Given the description of an element on the screen output the (x, y) to click on. 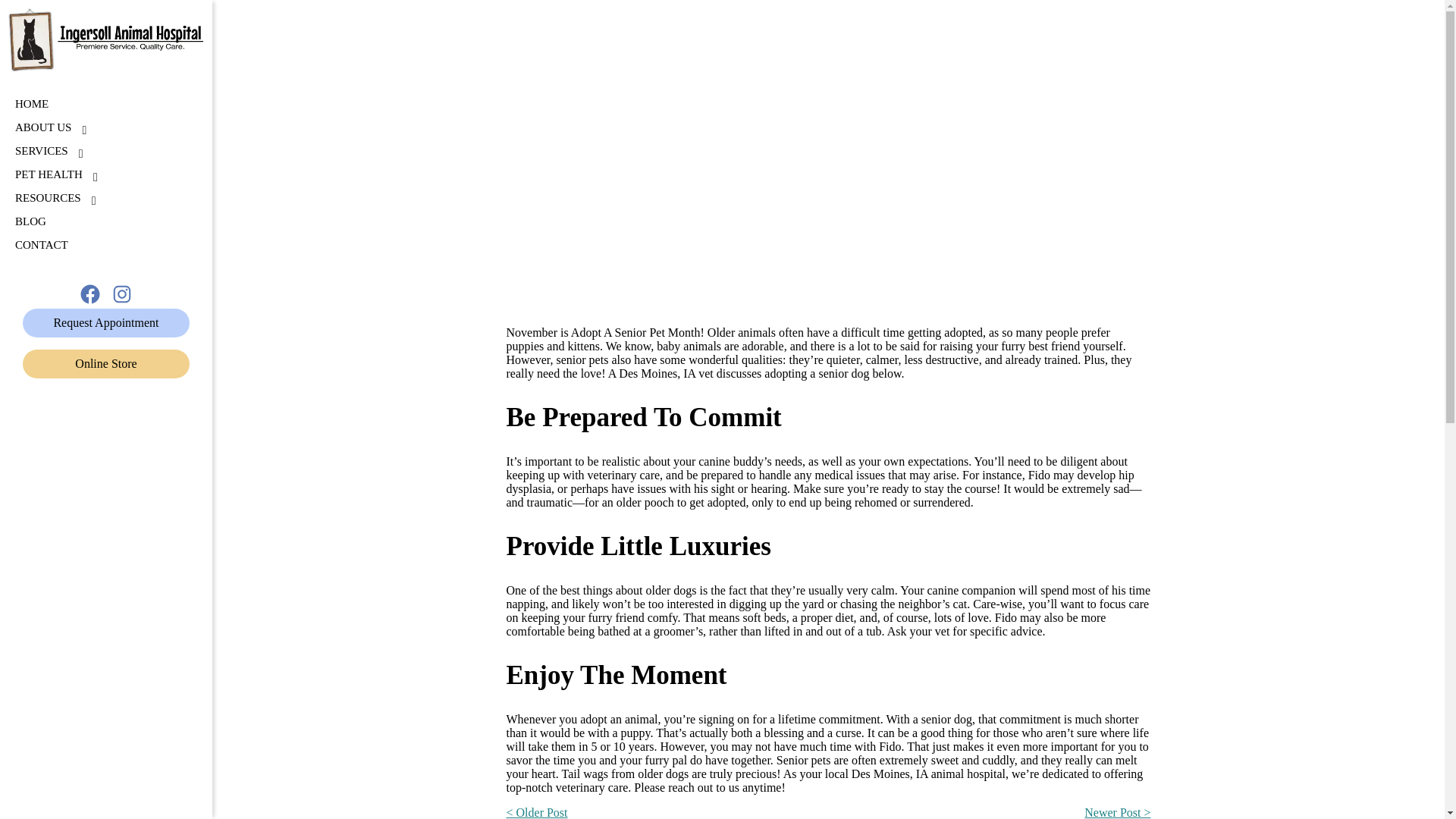
ABOUT US (42, 127)
HOME (31, 103)
SERVICES (41, 151)
